Given the description of an element on the screen output the (x, y) to click on. 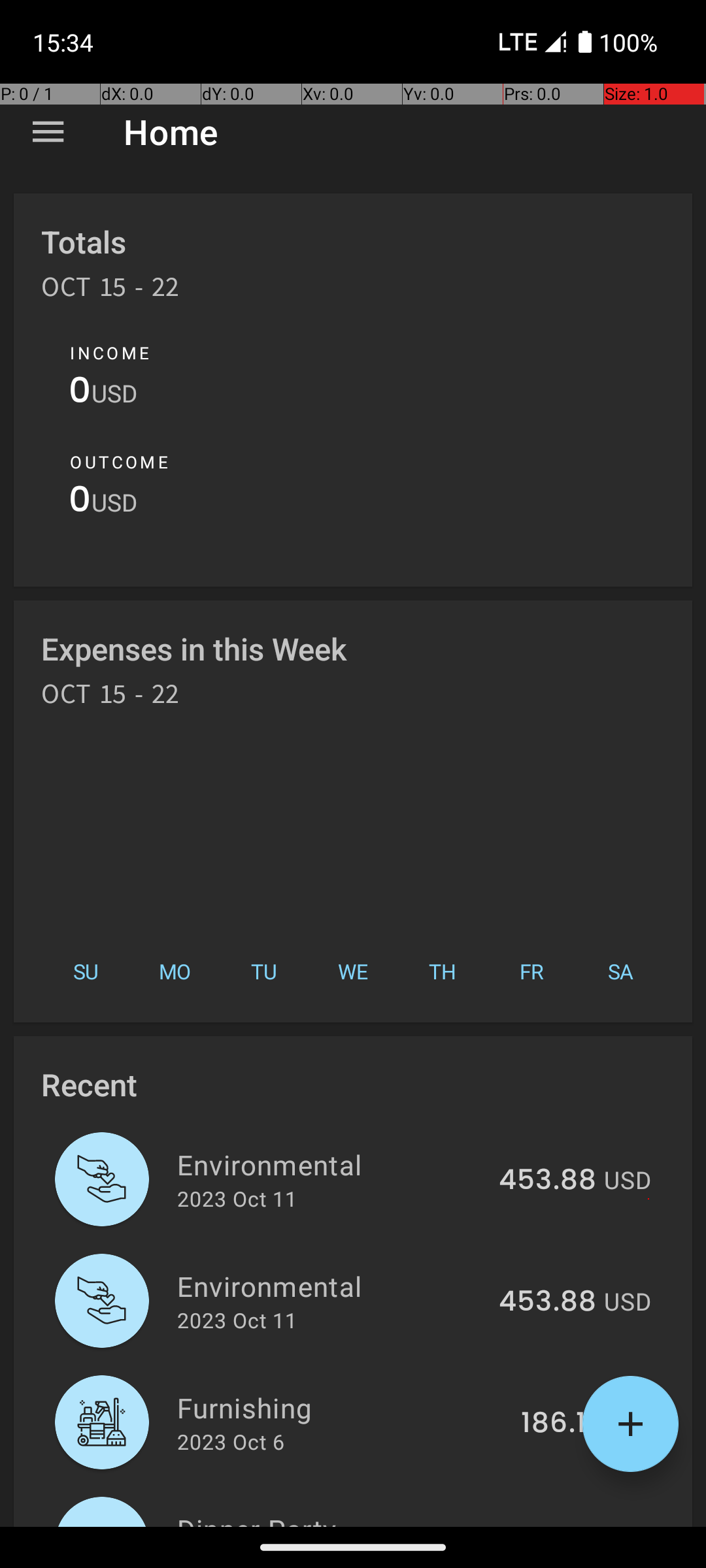
Environmental Element type: android.widget.TextView (330, 1164)
453.88 Element type: android.widget.TextView (547, 1180)
Furnishing Element type: android.widget.TextView (341, 1407)
2023 Oct 6 Element type: android.widget.TextView (230, 1441)
186.11 Element type: android.widget.TextView (558, 1423)
26.59 Element type: android.widget.TextView (556, 1524)
